Given the description of an element on the screen output the (x, y) to click on. 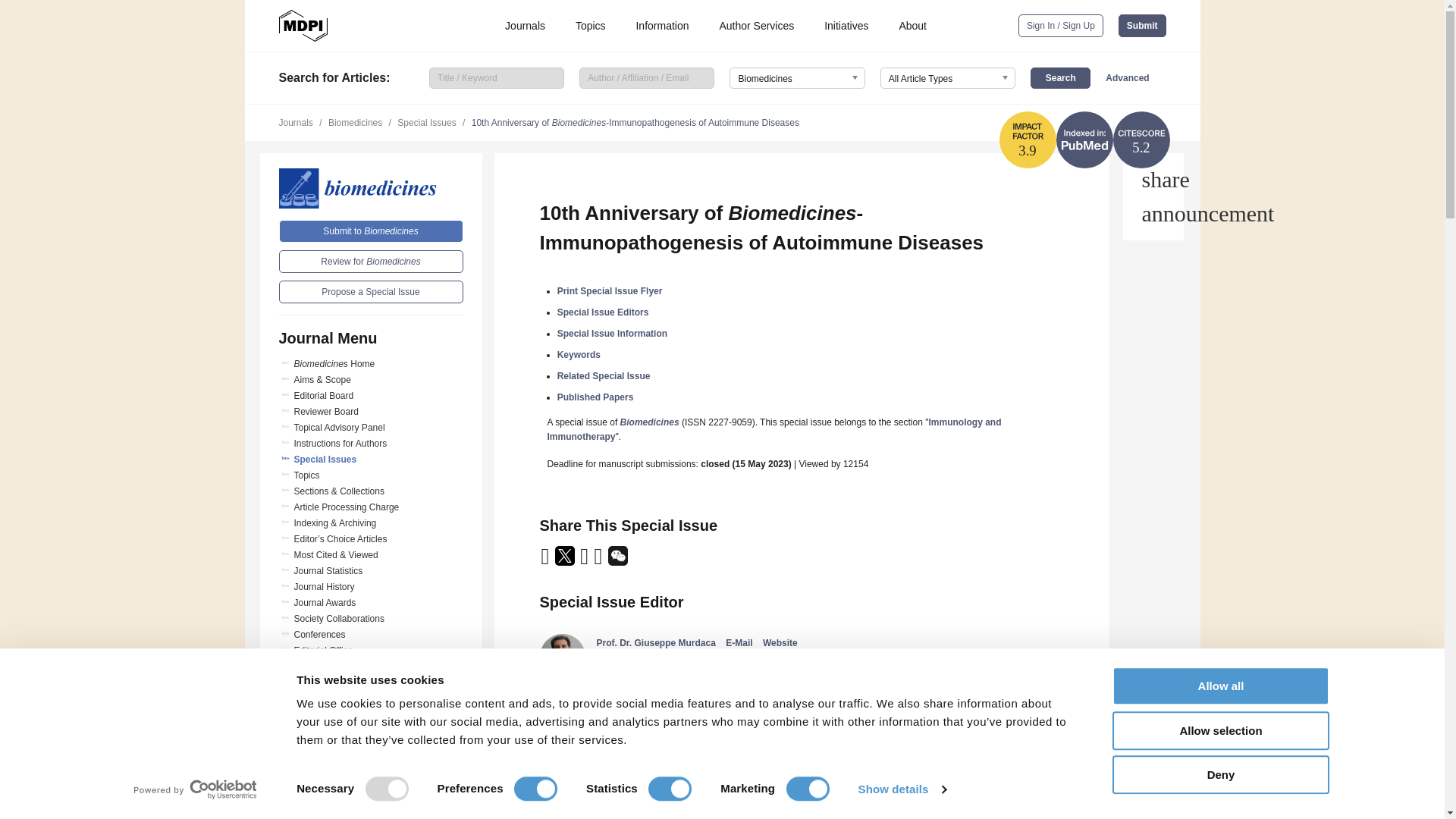
Go (371, 771)
Search (1060, 77)
Show details (900, 789)
Search (1060, 77)
